Given the description of an element on the screen output the (x, y) to click on. 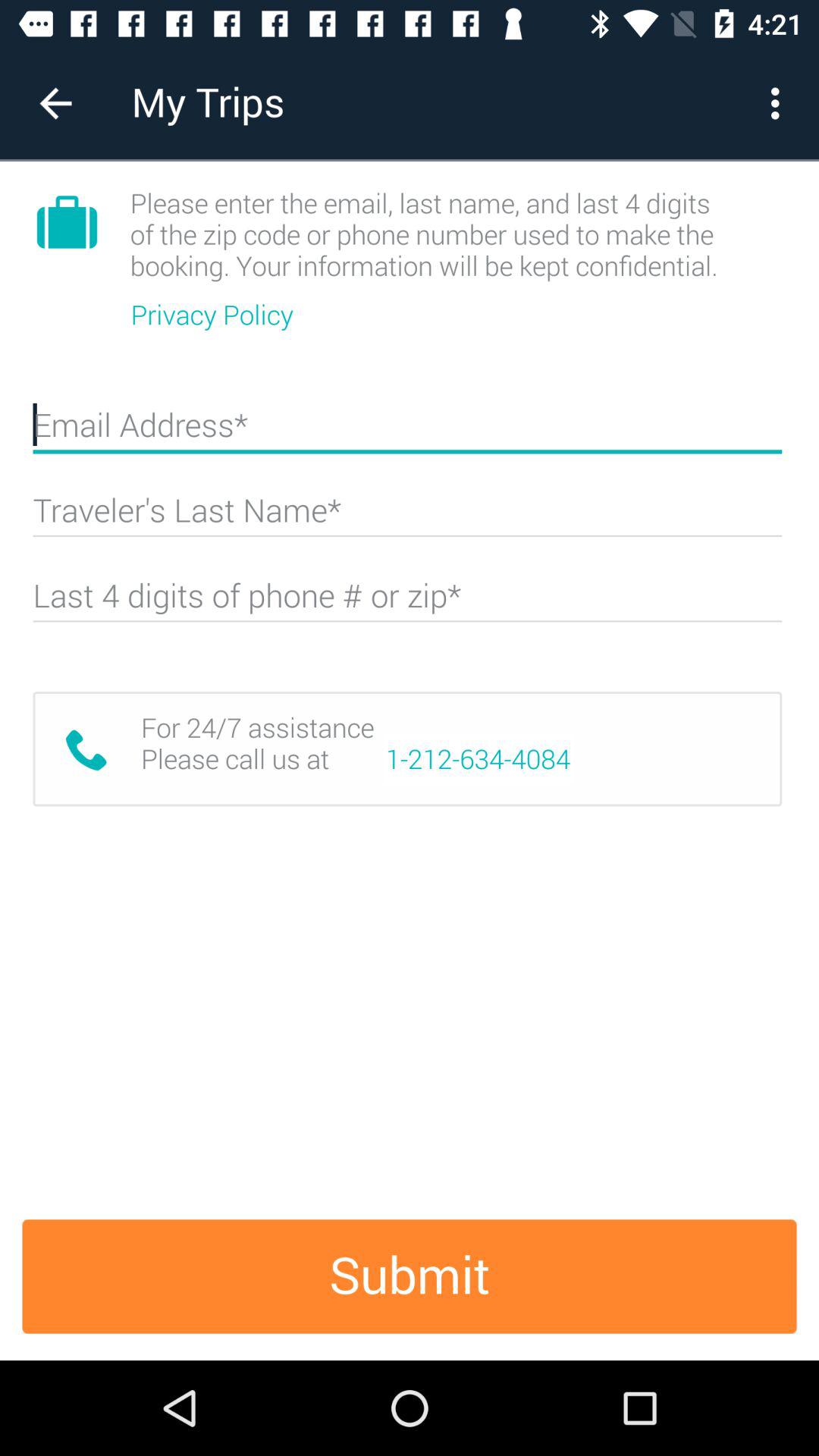
information box (407, 601)
